Given the description of an element on the screen output the (x, y) to click on. 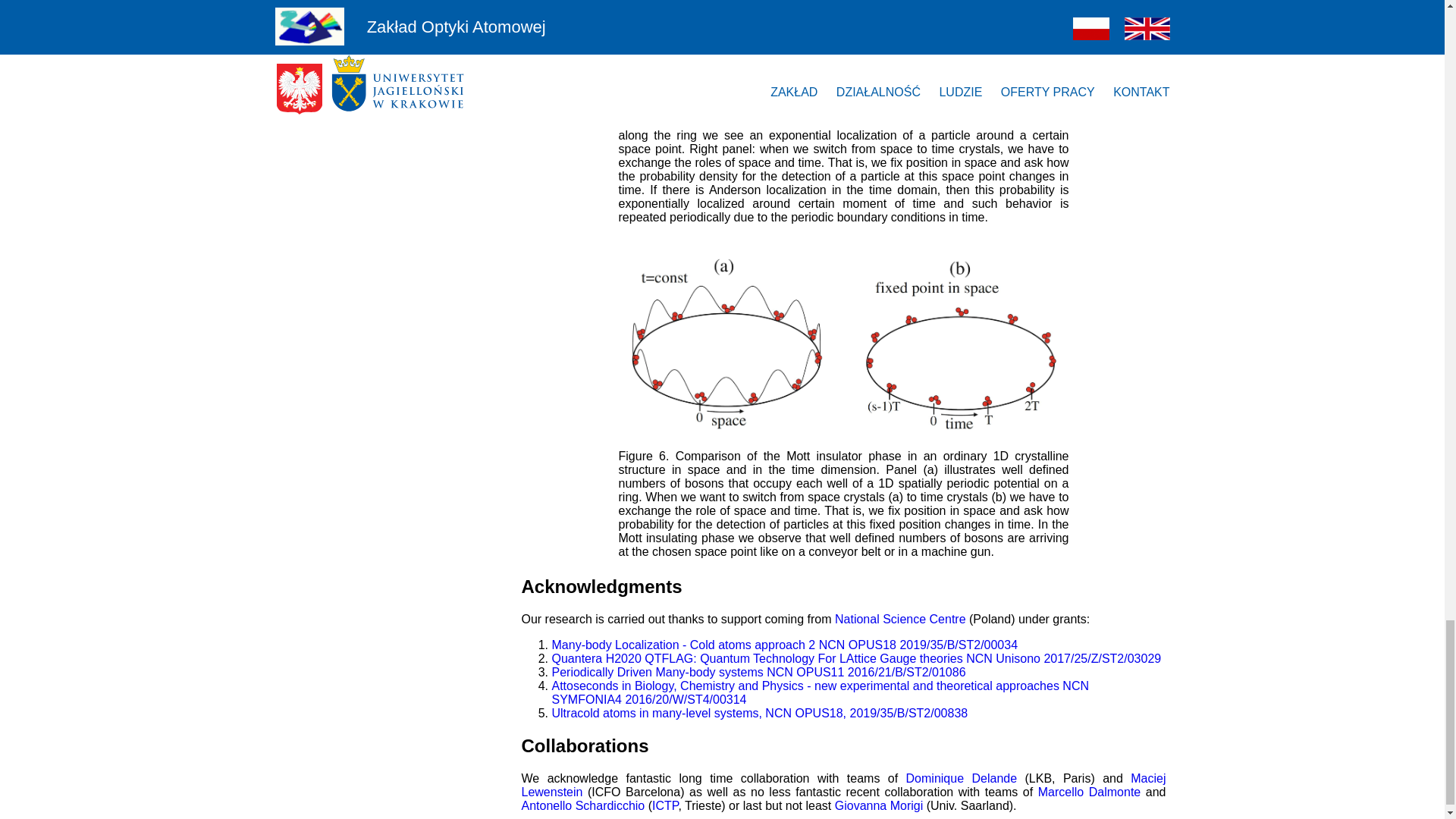
National Science Centre (900, 618)
